Given the description of an element on the screen output the (x, y) to click on. 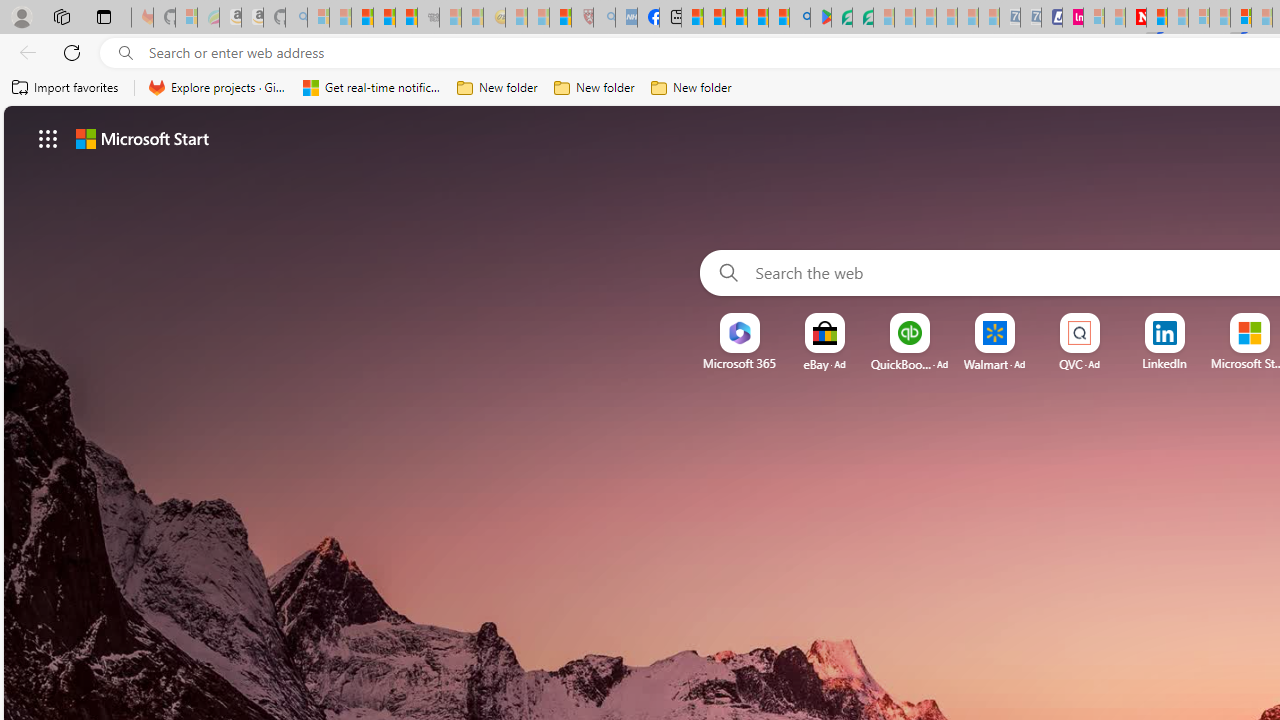
Cheap Car Rentals - Save70.com - Sleeping (1009, 17)
Offline games - Android Apps on Google Play (820, 17)
New Report Confirms 2023 Was Record Hot | Watch (406, 17)
Latest Politics News & Archive | Newsweek.com (1135, 17)
Jobs - lastminute.com Investor Portal (1072, 17)
Combat Siege (428, 17)
